Given the description of an element on the screen output the (x, y) to click on. 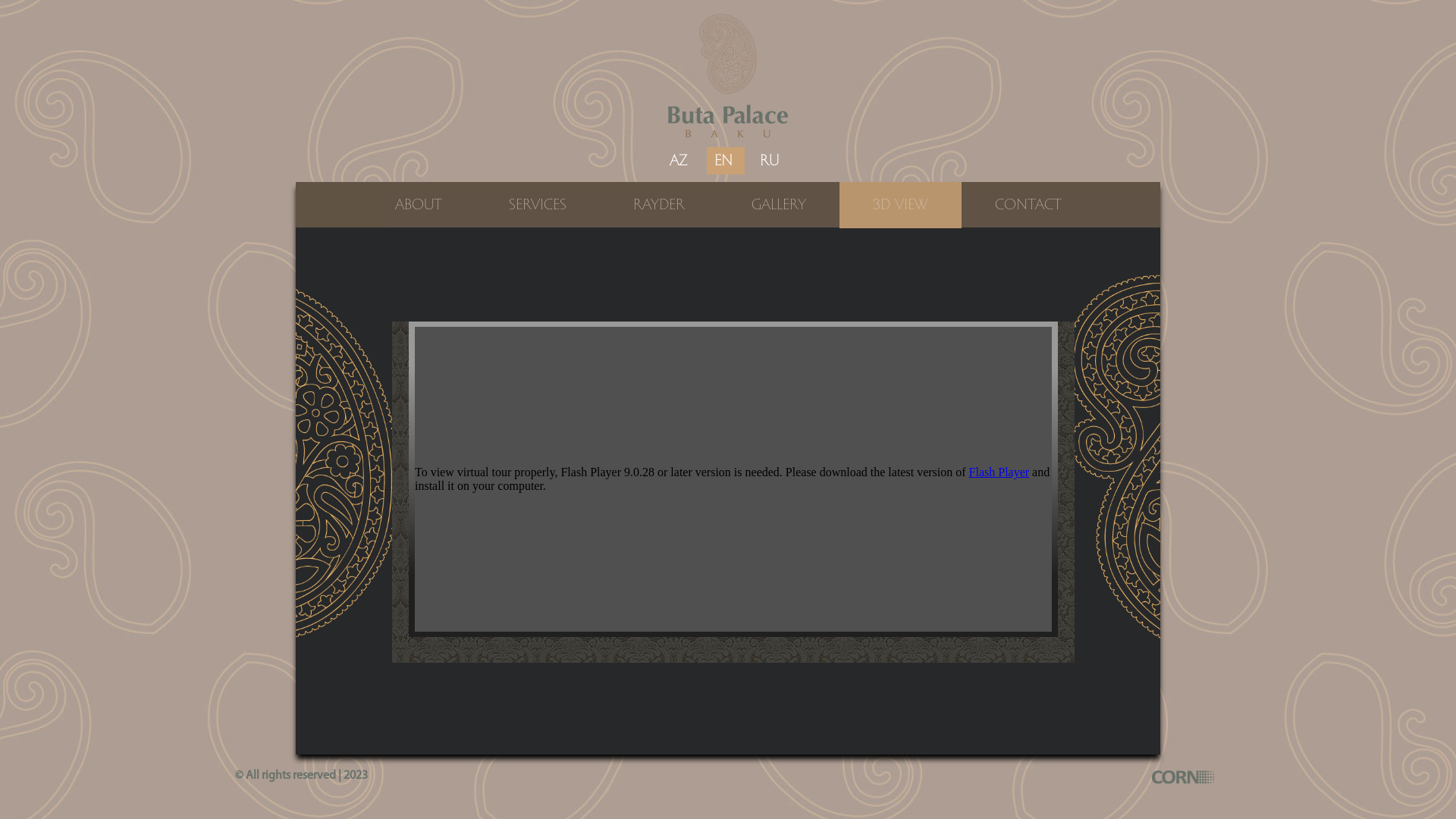
RAYDER Element type: text (658, 205)
EN Element type: text (723, 160)
AZ Element type: text (678, 160)
RU Element type: text (768, 160)
3D VIEW Element type: text (899, 205)
GALLERY Element type: text (777, 205)
ABOUT Element type: text (417, 205)
CONTACT Element type: text (1027, 205)
SERVICES Element type: text (536, 205)
